Given the description of an element on the screen output the (x, y) to click on. 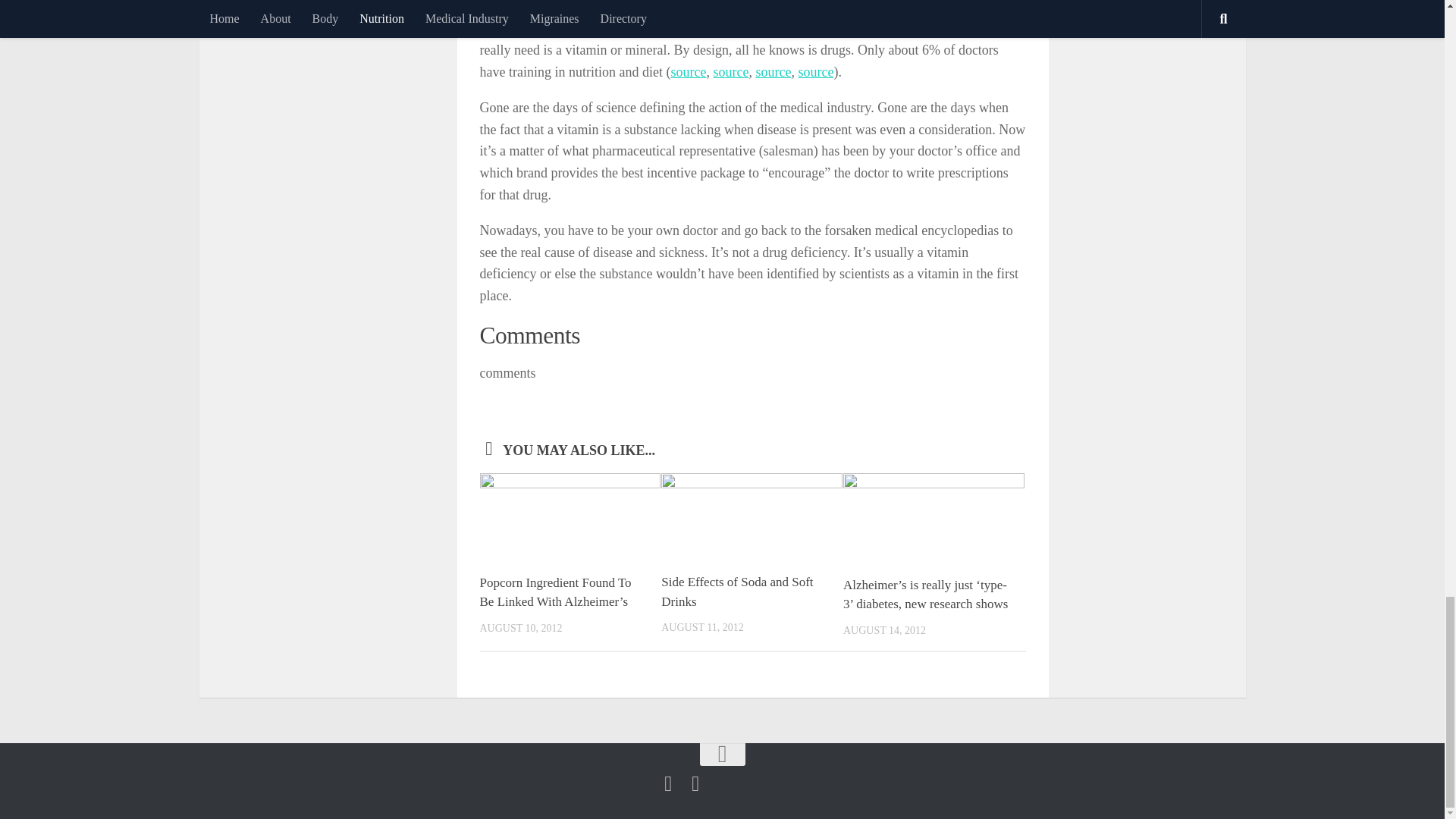
Permalink to Side Effects of Soda and Soft Drinks (736, 591)
source (687, 71)
Follow us on Facebook-official (668, 783)
